Given the description of an element on the screen output the (x, y) to click on. 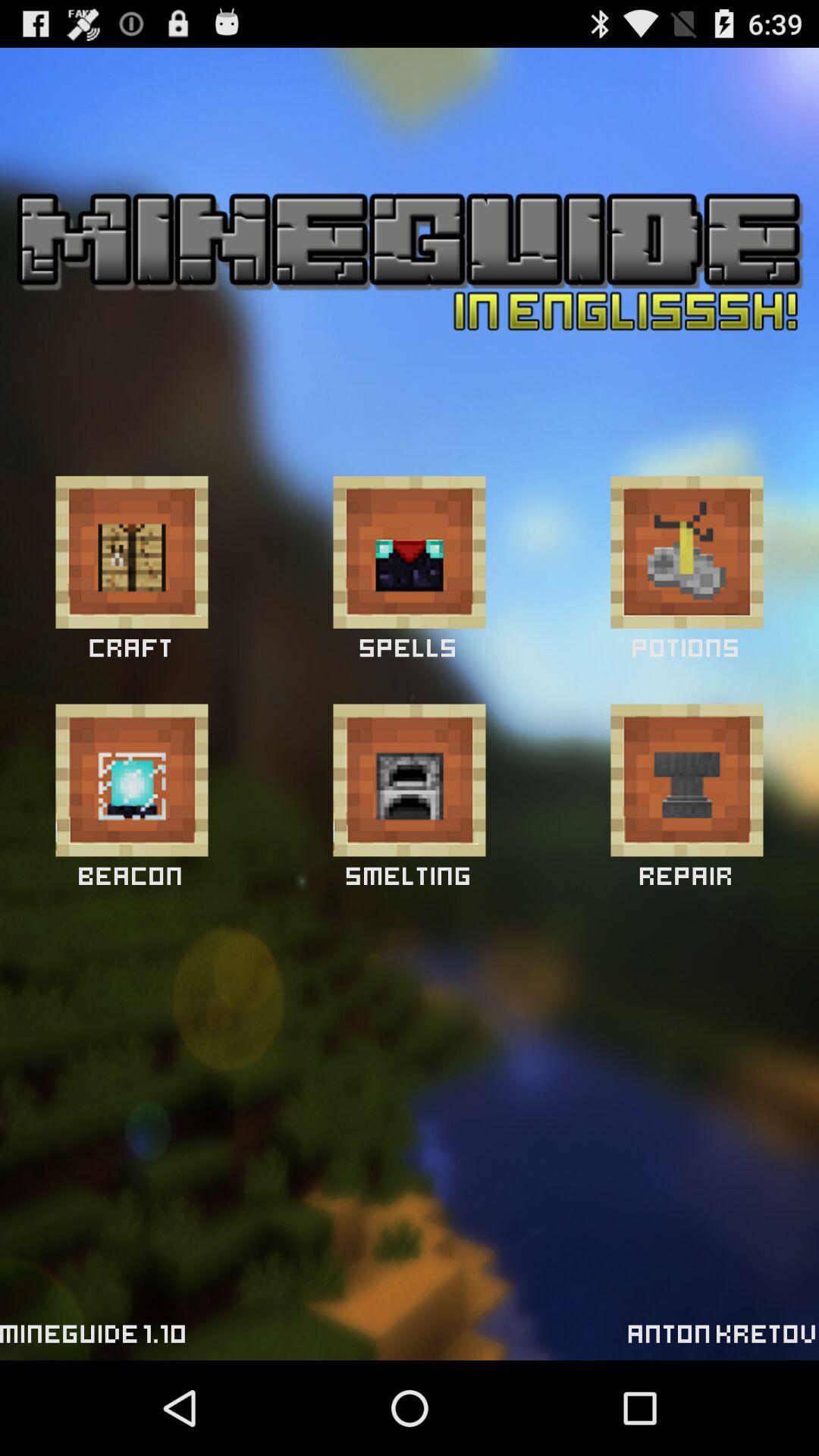
eeacon (131, 780)
